Given the description of an element on the screen output the (x, y) to click on. 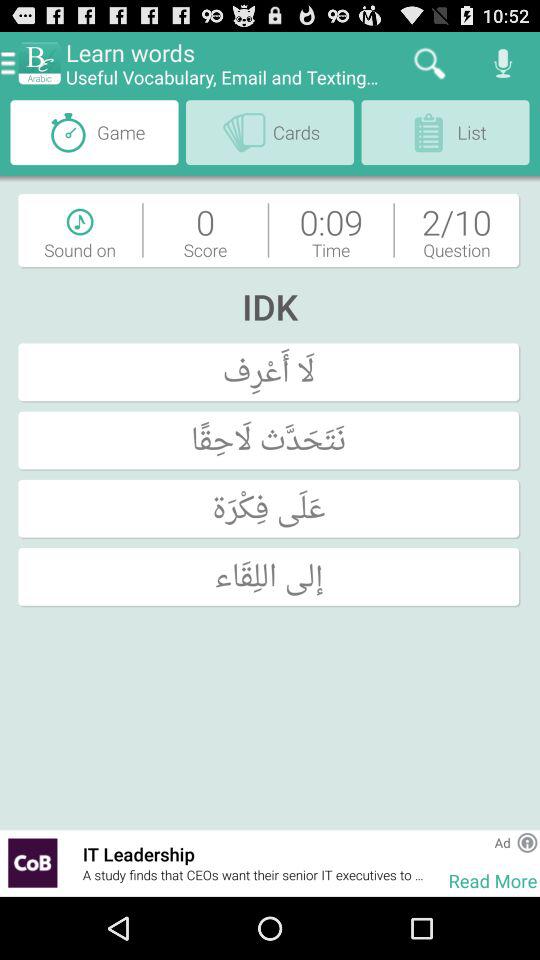
press it leadership icon (255, 853)
